Given the description of an element on the screen output the (x, y) to click on. 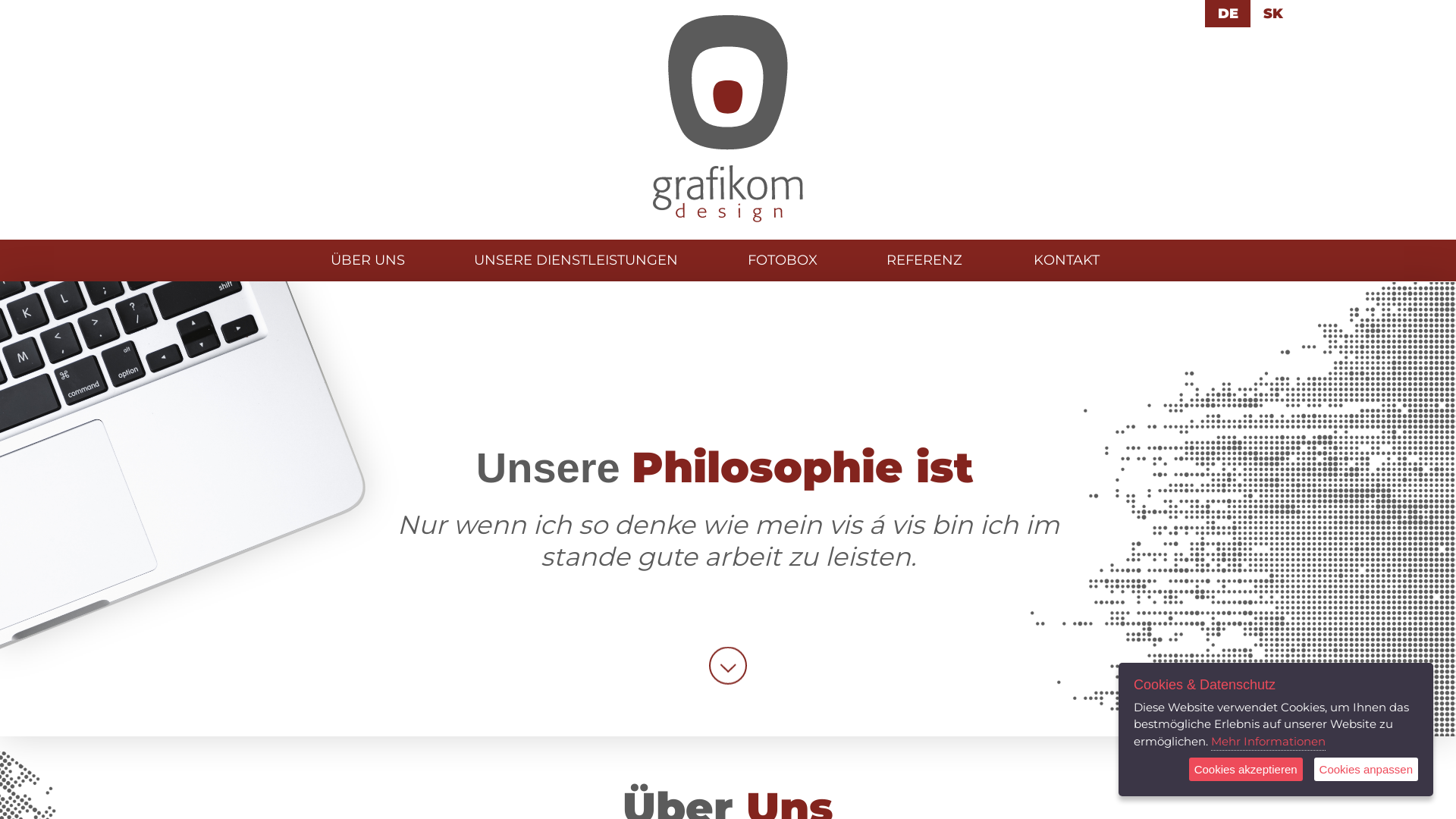
Mehr Informationen Element type: text (1268, 742)
DE Element type: text (1227, 13)
SK Element type: text (1272, 13)
KONTAKT Element type: text (1066, 259)
Cookies akzeptieren Element type: text (1245, 769)
REFERENZ Element type: text (924, 259)
UNSERE DIENSTLEISTUNGEN Element type: text (575, 259)
Cookies anpassen Element type: text (1366, 769)
FOTOBOX Element type: text (782, 259)
